Given the description of an element on the screen output the (x, y) to click on. 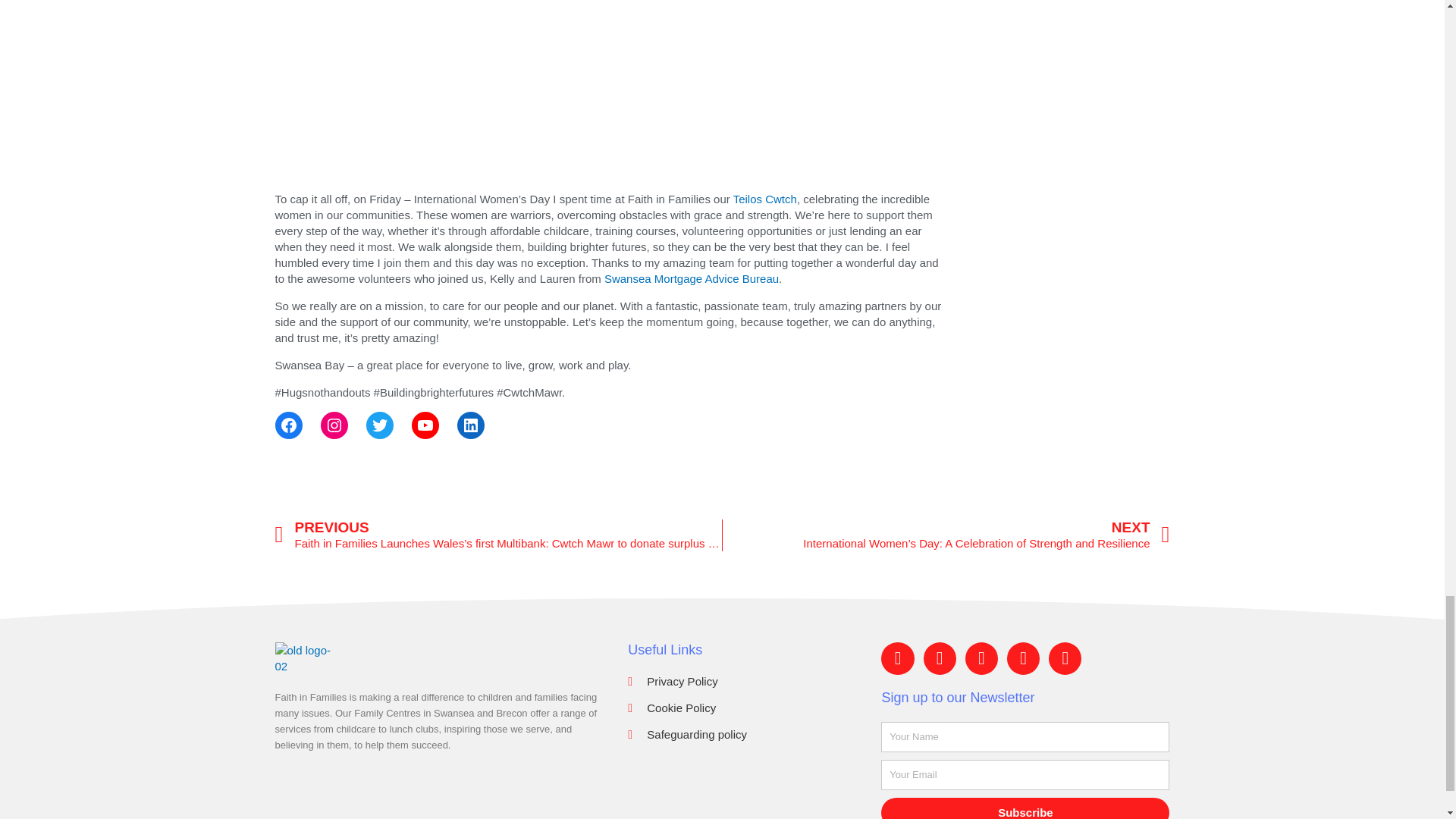
old logo-02 (304, 658)
